Given the description of an element on the screen output the (x, y) to click on. 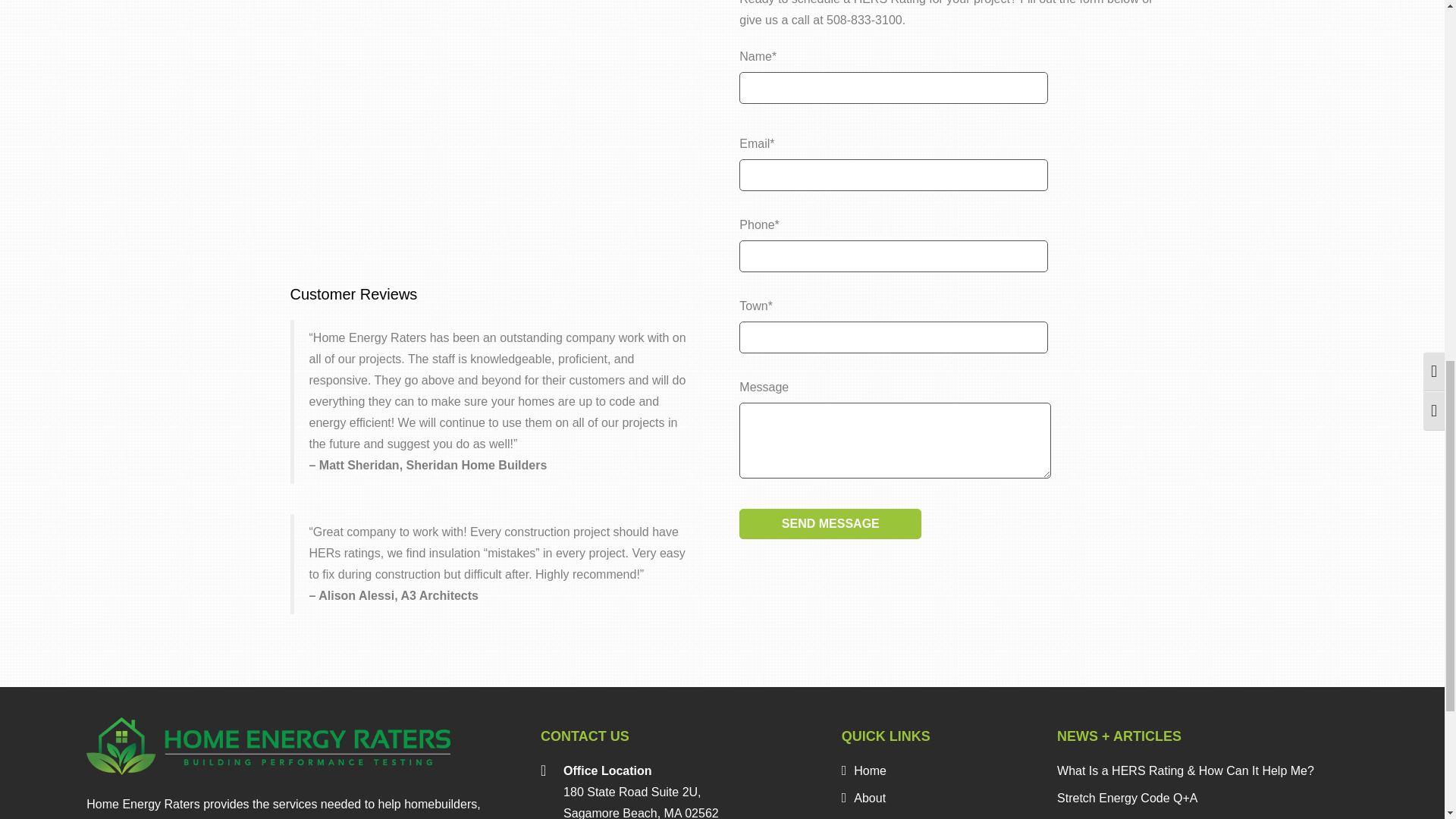
Send Message (830, 523)
Send Message (830, 523)
About (863, 797)
What is a HERS rating? (496, 125)
Home (863, 770)
